Given the description of an element on the screen output the (x, y) to click on. 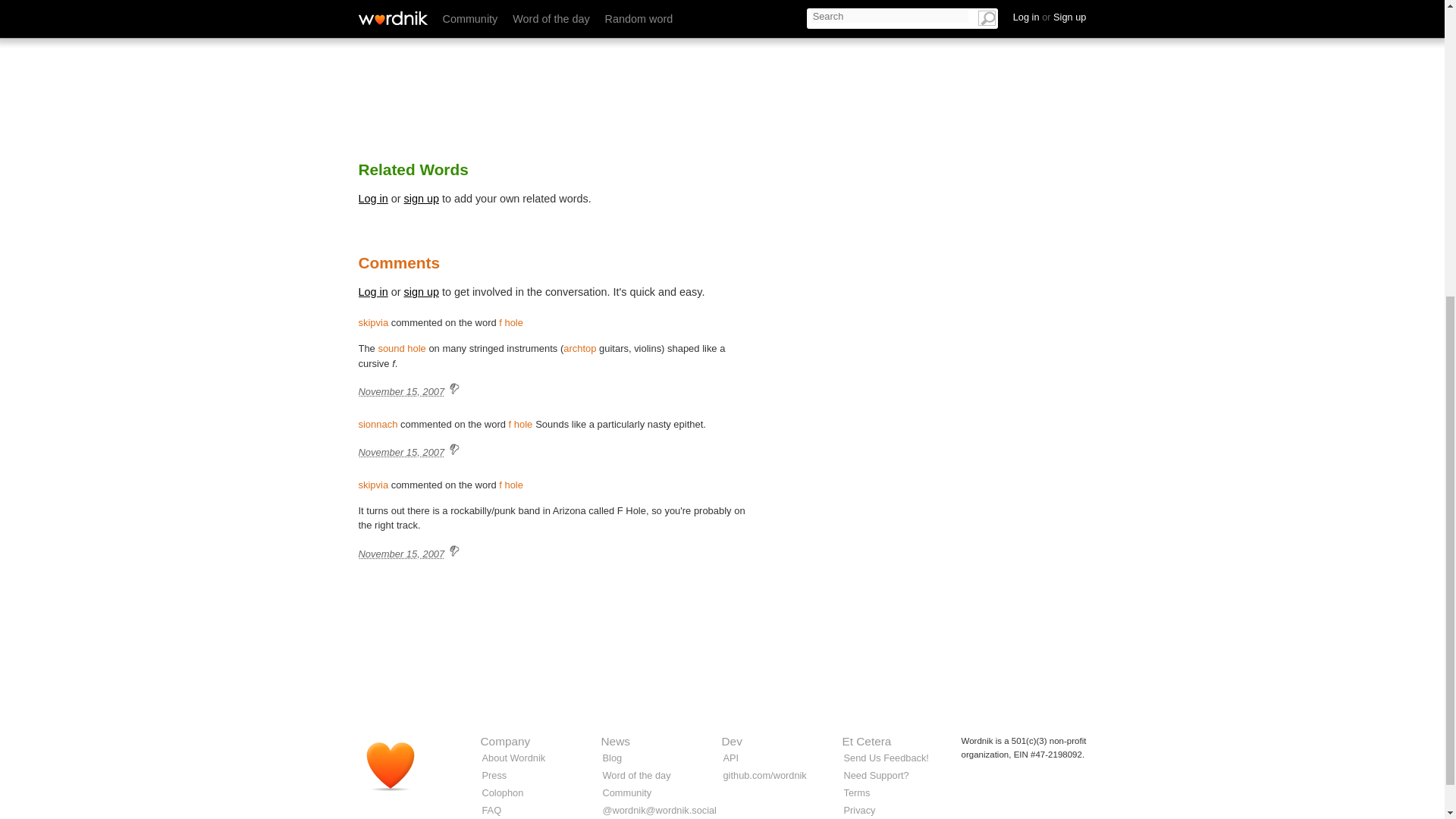
sionnach (377, 423)
Log in (372, 198)
November 15, 2007 (401, 391)
November 15, 2007 (401, 451)
Press (493, 775)
f hole (520, 423)
Log in (372, 291)
Company (505, 740)
f hole (510, 483)
sound hole (401, 348)
sign up (421, 198)
3rd party ad content (934, 62)
About Wordnik (513, 757)
skipvia (373, 483)
Company (505, 740)
